Given the description of an element on the screen output the (x, y) to click on. 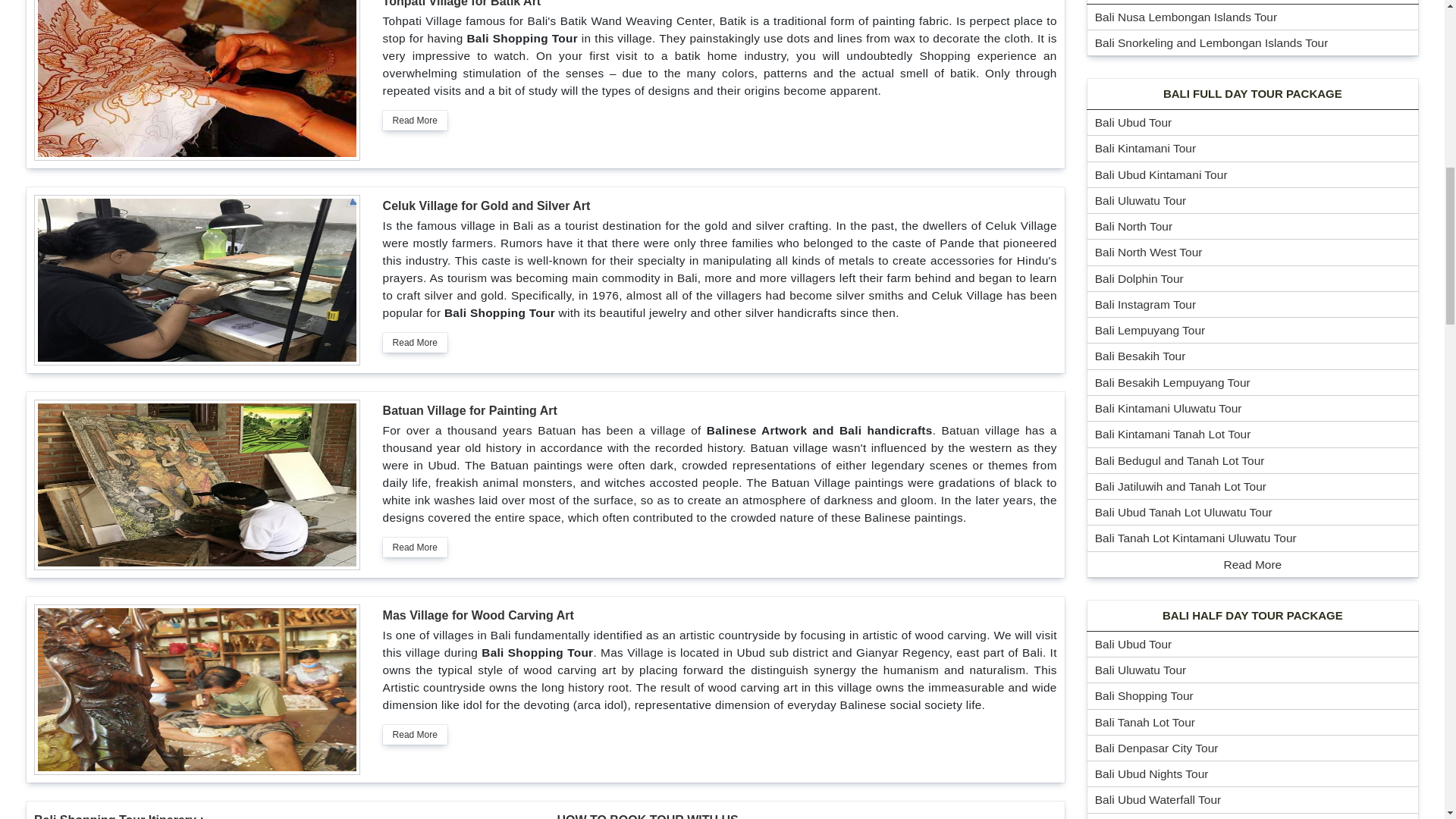
Read More (414, 120)
Read More (414, 547)
Read More (414, 734)
Celuk Village for Gold and Silver Art (486, 205)
Tohpati Village for Batik Art (461, 3)
Read More (414, 342)
Mas Village for Wood Carving Art (477, 615)
Batuan Village for Painting Art (469, 410)
